Given the description of an element on the screen output the (x, y) to click on. 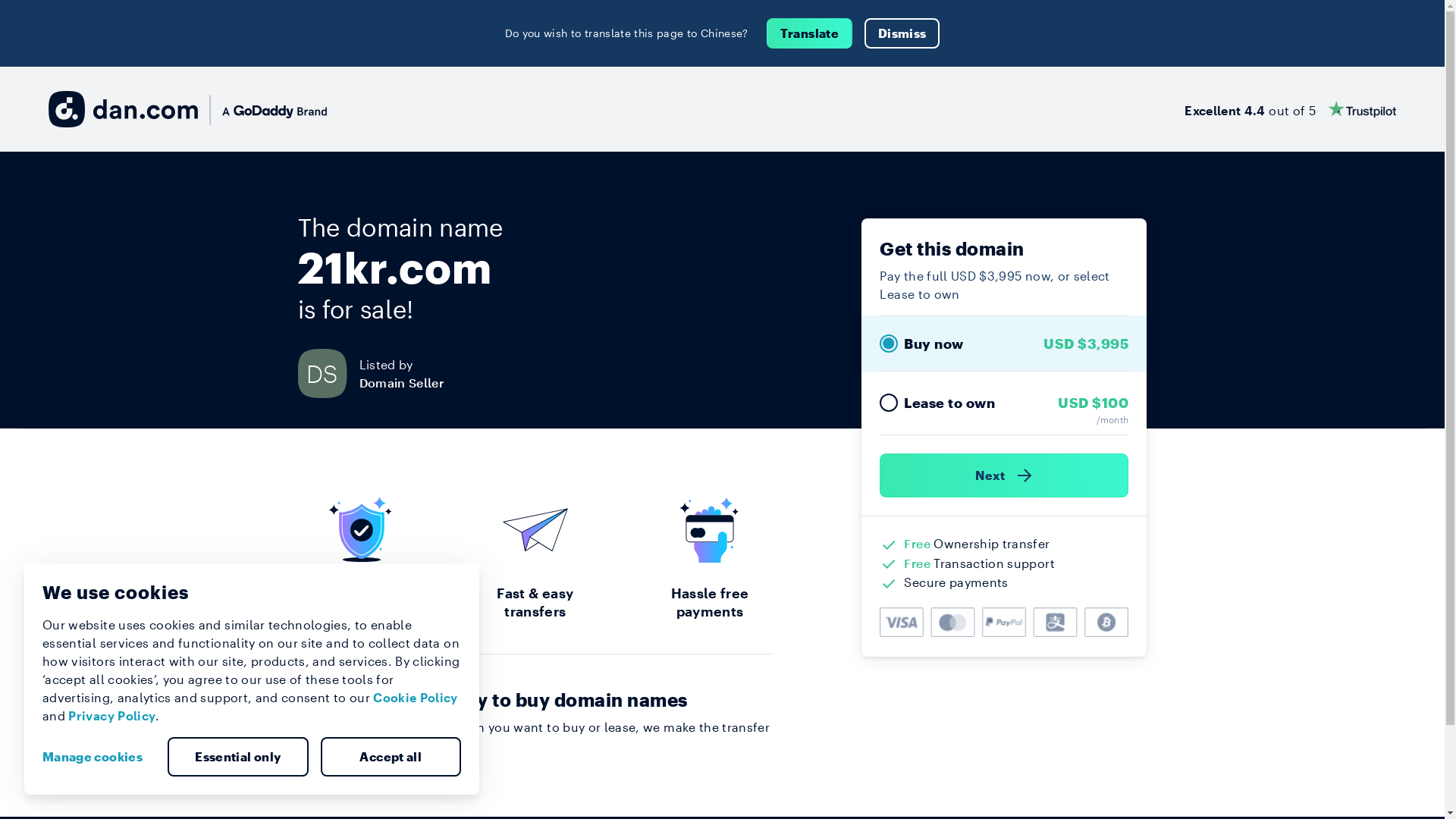
Essential only Element type: text (237, 756)
Manage cookies Element type: text (98, 756)
Accept all Element type: text (390, 756)
Excellent 4.4 out of 5 Element type: text (1290, 109)
Next
) Element type: text (1003, 475)
Privacy Policy Element type: text (111, 715)
Dismiss Element type: text (901, 33)
Cookie Policy Element type: text (415, 697)
Translate Element type: text (809, 33)
